Given the description of an element on the screen output the (x, y) to click on. 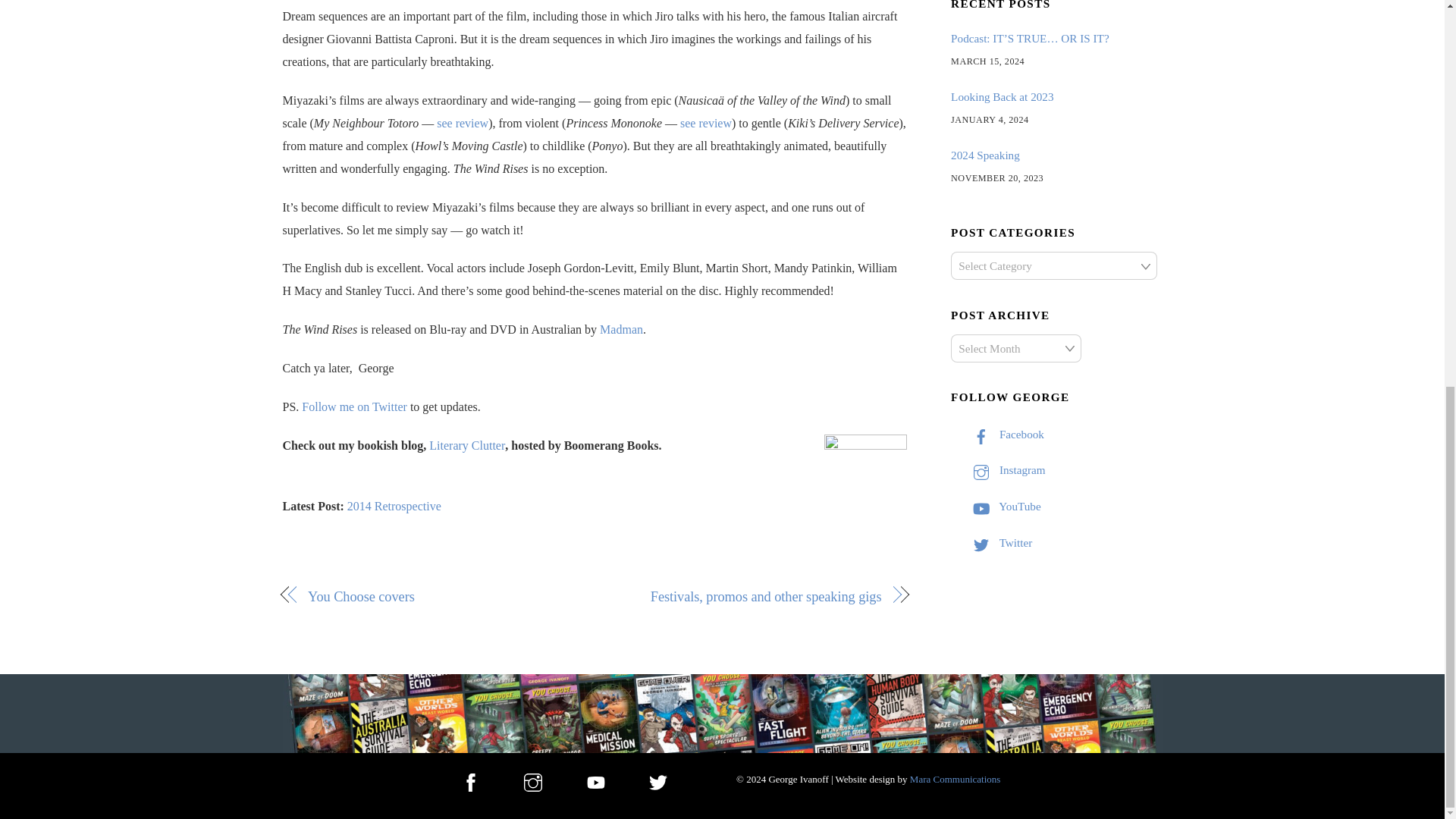
Literary Clutter (467, 444)
Follow me on Twitter (354, 406)
Festivals, promos and other speaking gigs (746, 596)
You Choose covers (441, 596)
Madman (621, 328)
see review (461, 123)
2014 Retrospective (394, 505)
Poppy (865, 490)
see review (705, 123)
